Given the description of an element on the screen output the (x, y) to click on. 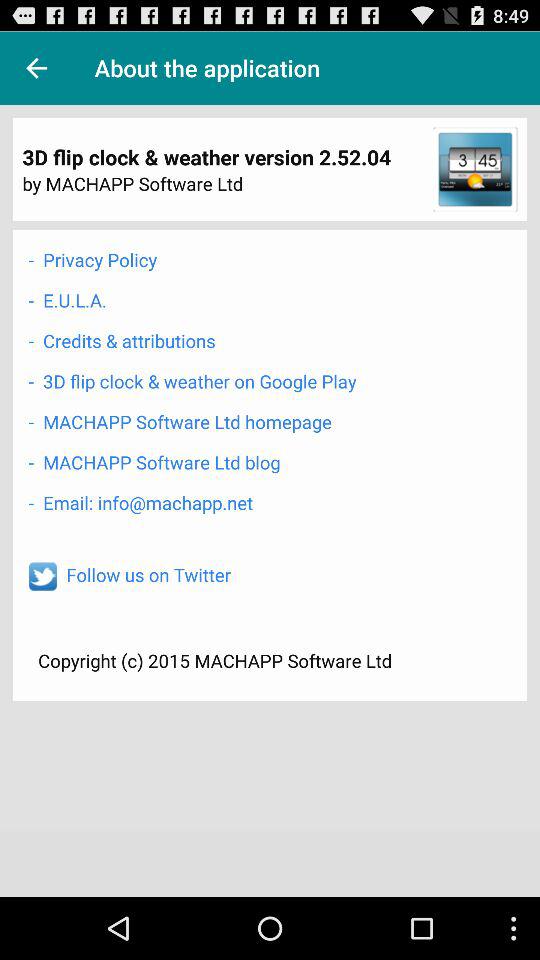
follow on twitter (42, 576)
